Given the description of an element on the screen output the (x, y) to click on. 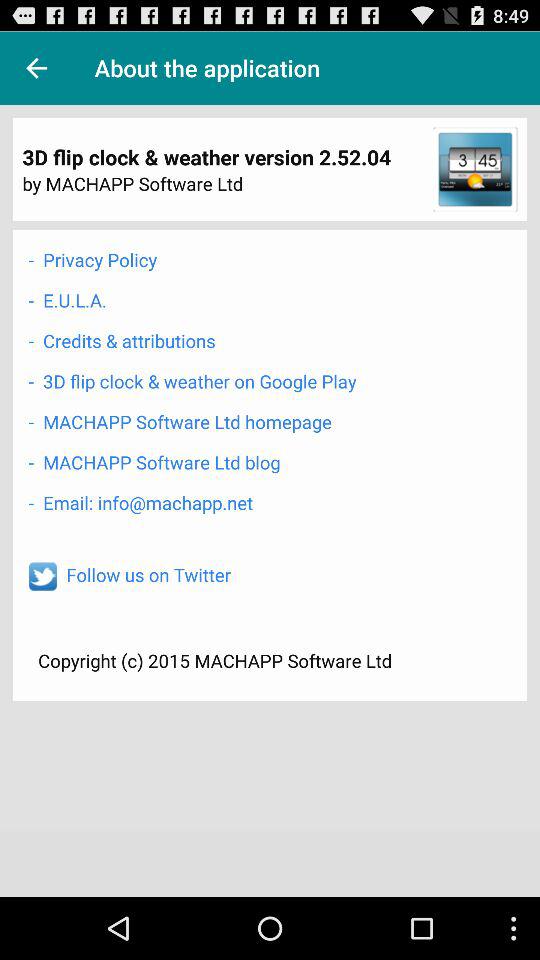
follow on twitter (42, 576)
